Given the description of an element on the screen output the (x, y) to click on. 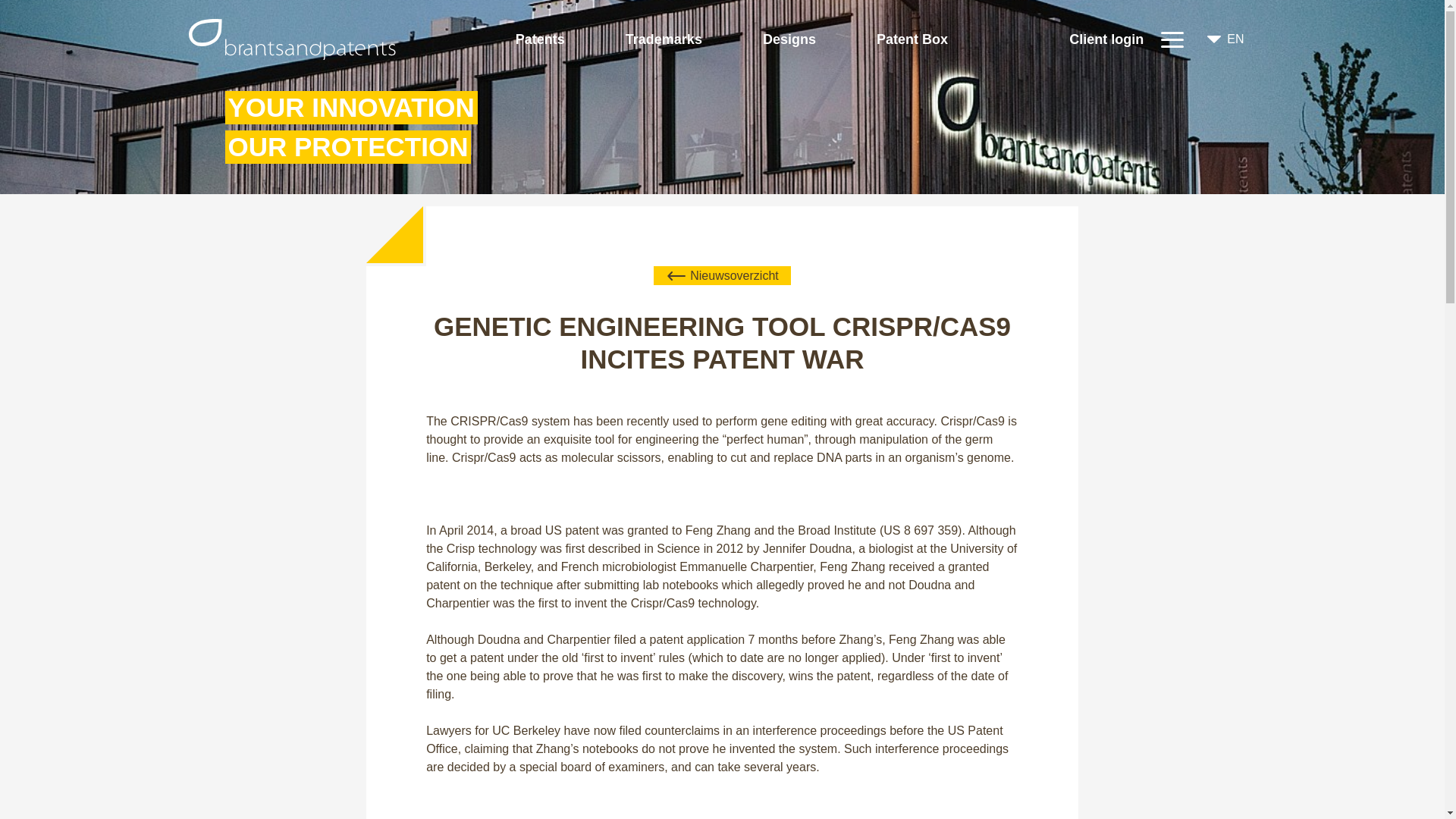
Patent Box (911, 42)
Nieuwsoverzicht (721, 275)
Client login (1105, 42)
Patents (539, 42)
Trademarks (663, 42)
Designs (788, 42)
EN (1225, 39)
